Given the description of an element on the screen output the (x, y) to click on. 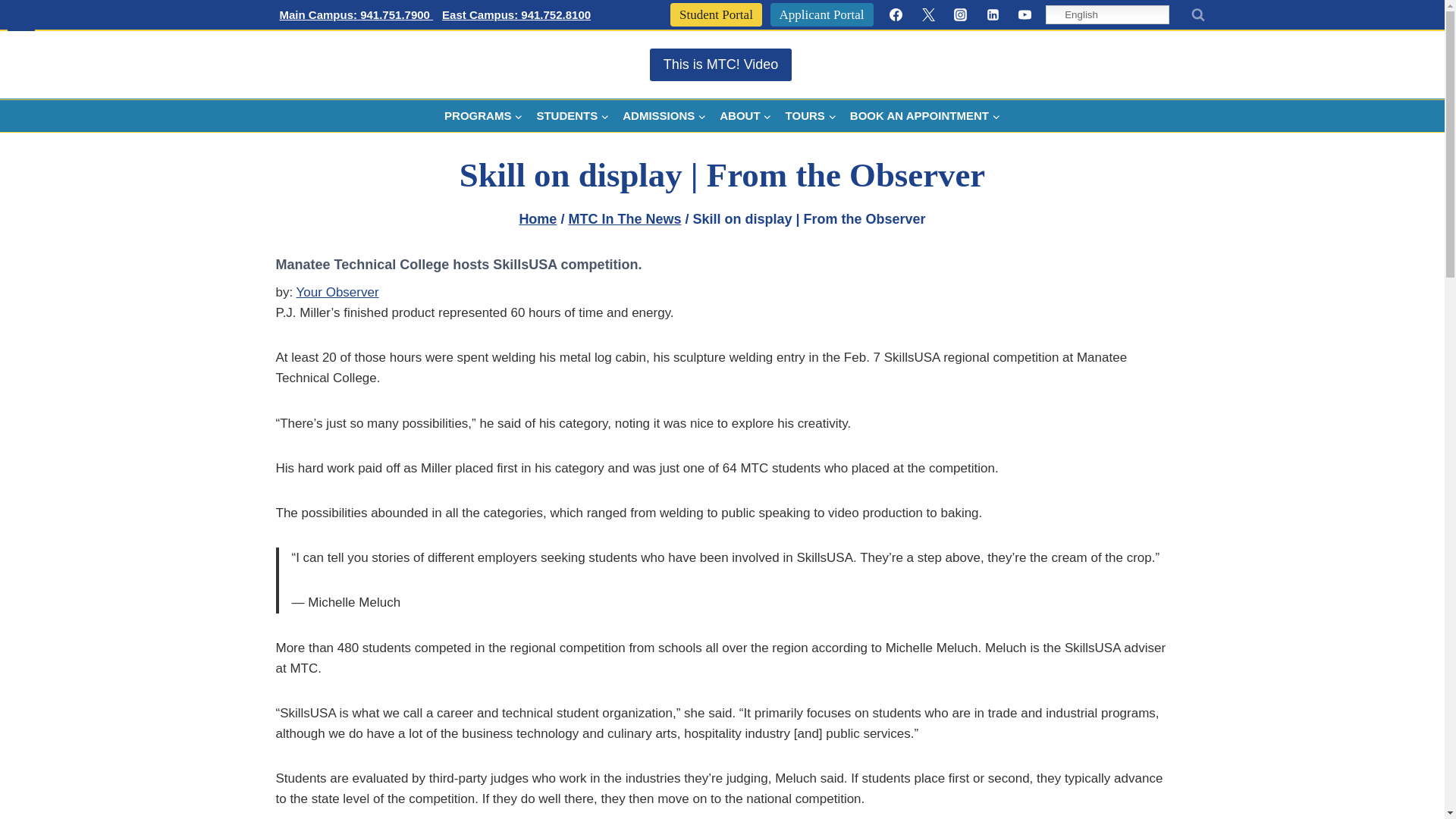
Student Portal (715, 14)
East Campus: 941.752.8100 (516, 14)
English (1107, 14)
Main Campus: 941.751.7900  (356, 14)
Applicant Portal (821, 14)
